Given the description of an element on the screen output the (x, y) to click on. 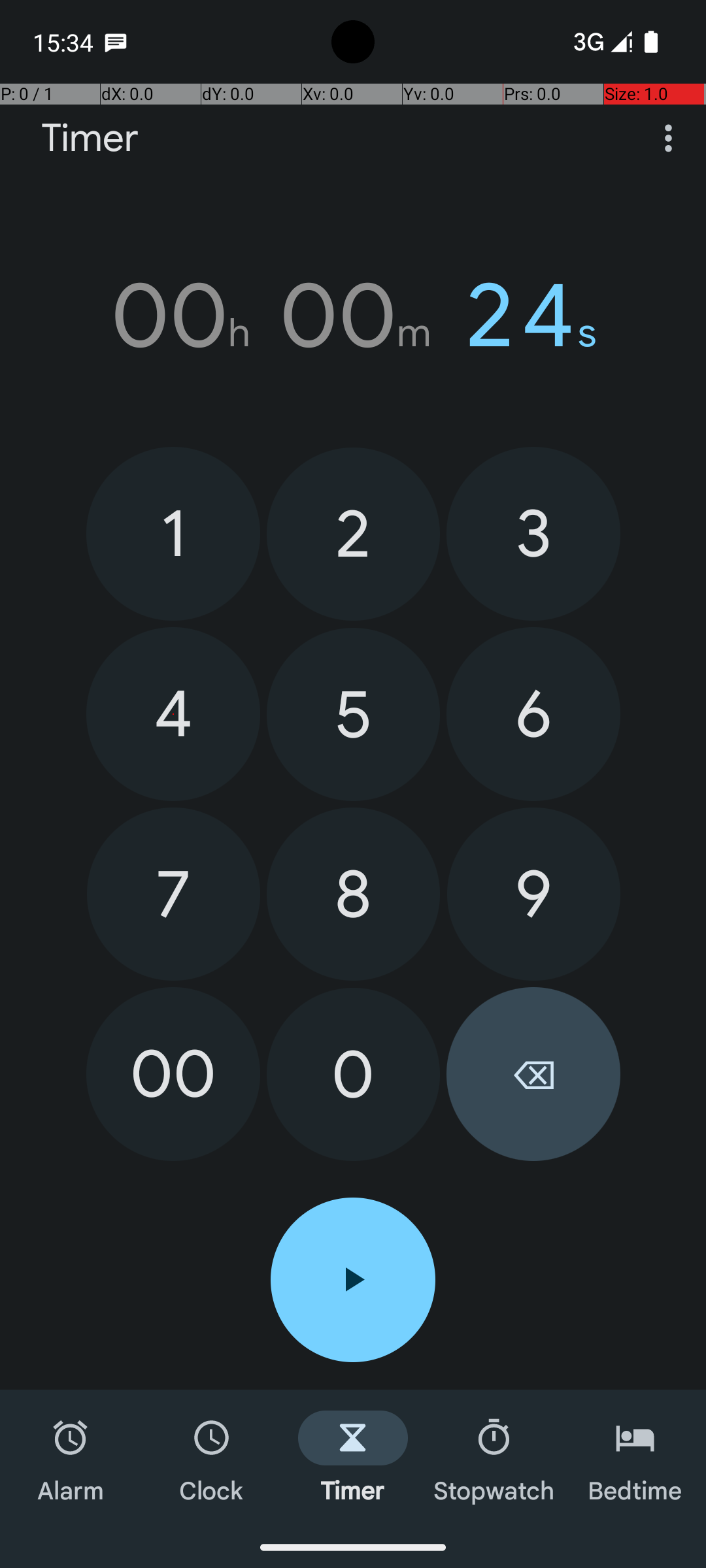
00h 00m 24s Element type: android.widget.TextView (353, 315)
